Given the description of an element on the screen output the (x, y) to click on. 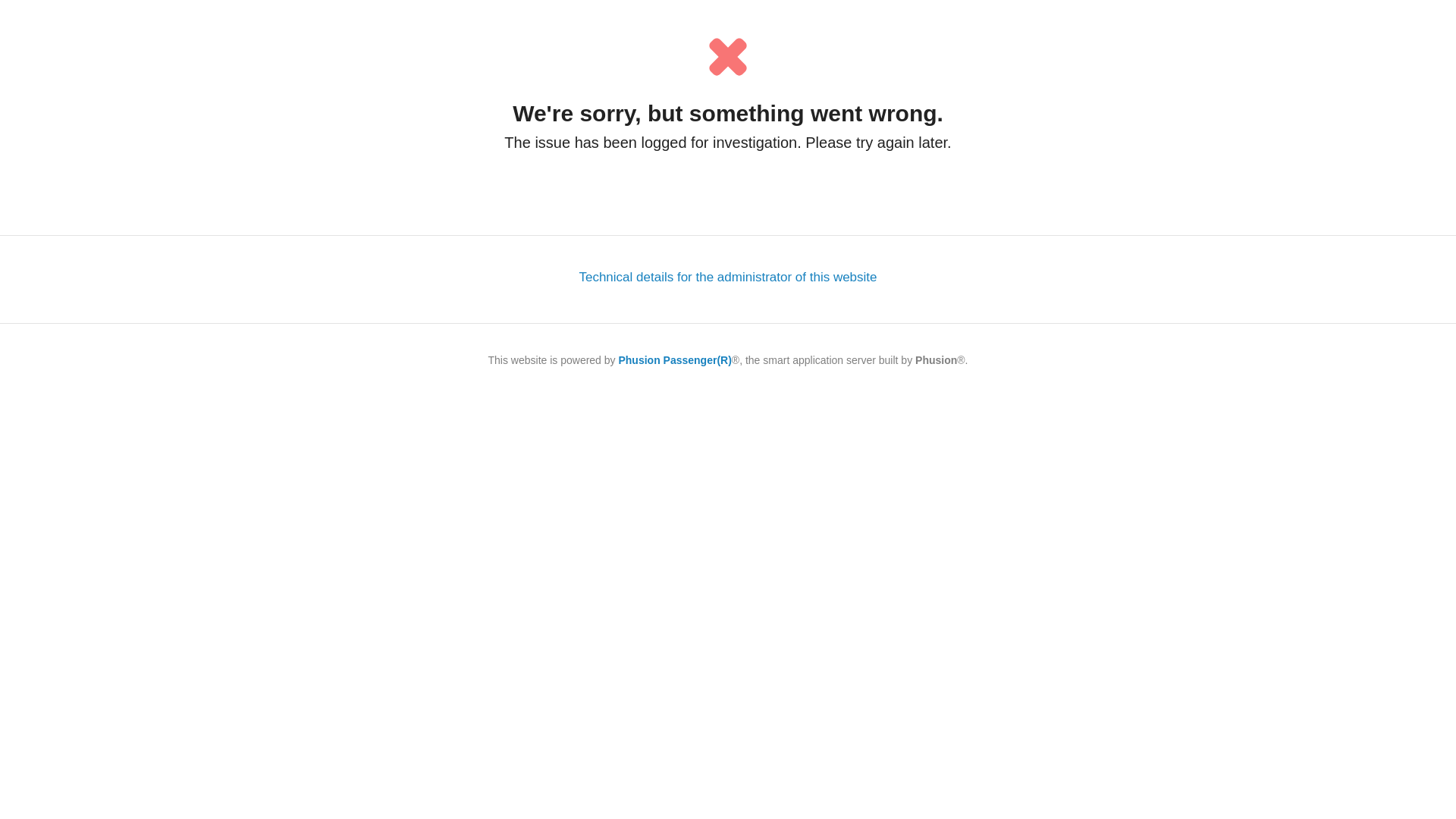
Technical details for the administrator of this website Element type: text (727, 276)
Phusion Passenger(R) Element type: text (674, 360)
